Given the description of an element on the screen output the (x, y) to click on. 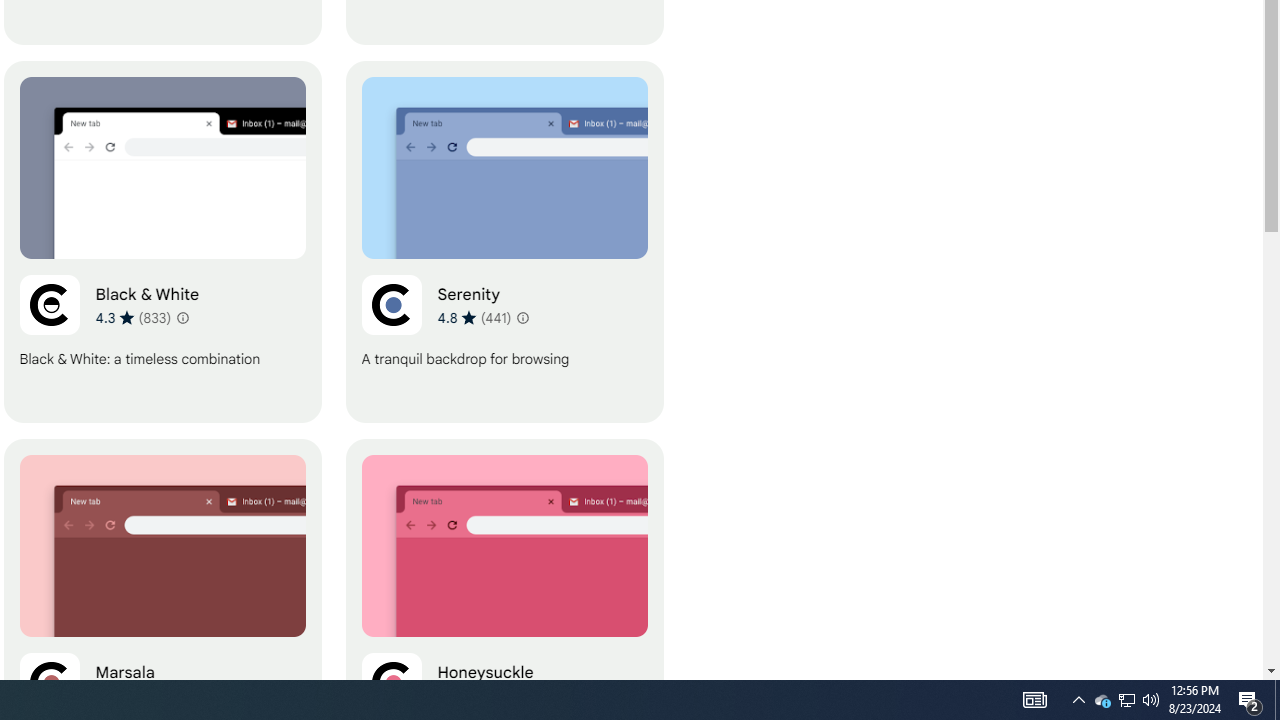
Learn more about results and reviews "Serenity" (522, 317)
Learn more about results and reviews "Black & White" (182, 317)
Average rating 4.3 out of 5 stars. 833 ratings. (132, 317)
Serenity (504, 242)
Average rating 4.8 out of 5 stars. 441 ratings. (474, 317)
Black & White (162, 242)
